Given the description of an element on the screen output the (x, y) to click on. 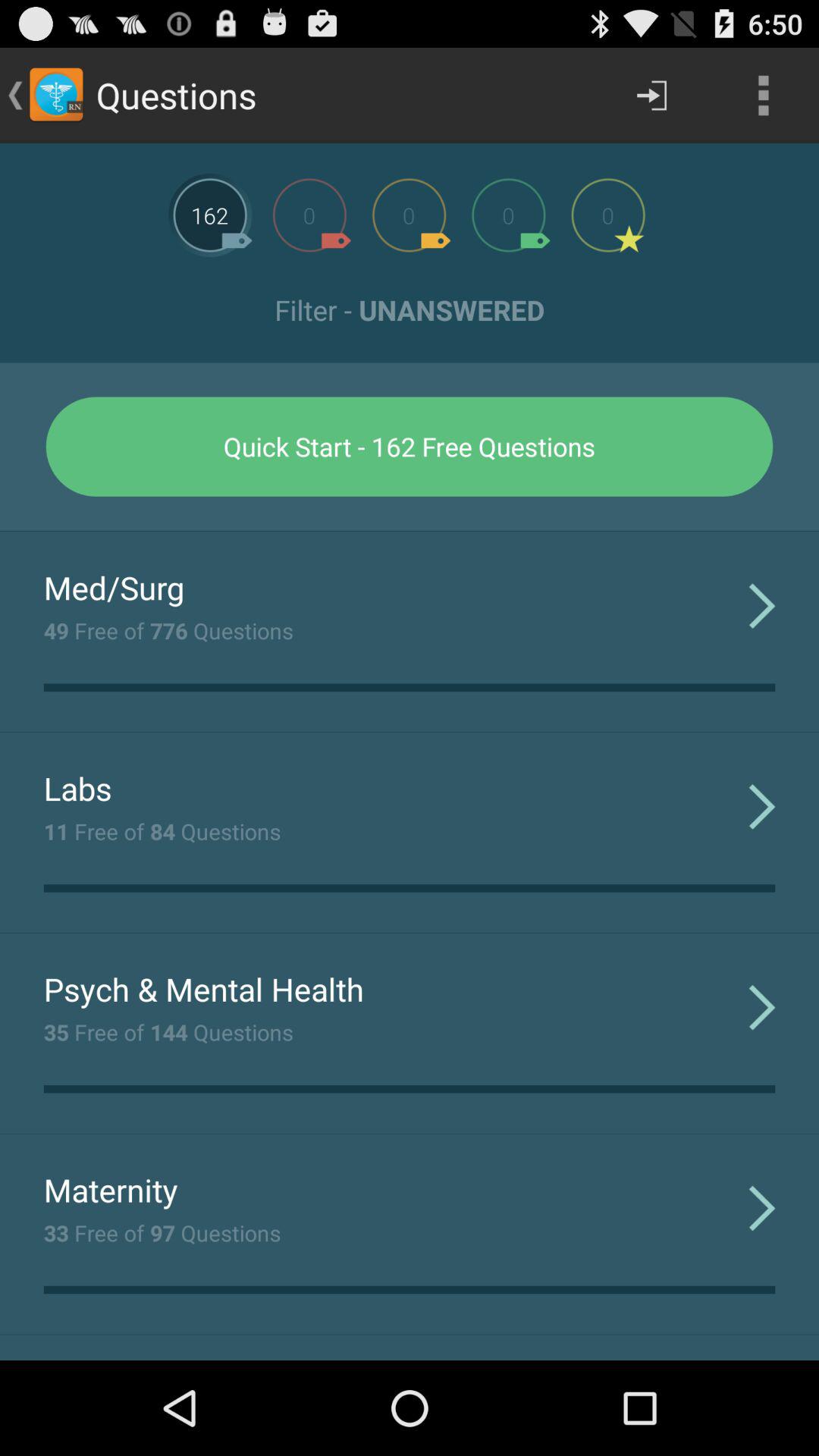
turn on icon next to 33 free of icon (762, 1207)
